Given the description of an element on the screen output the (x, y) to click on. 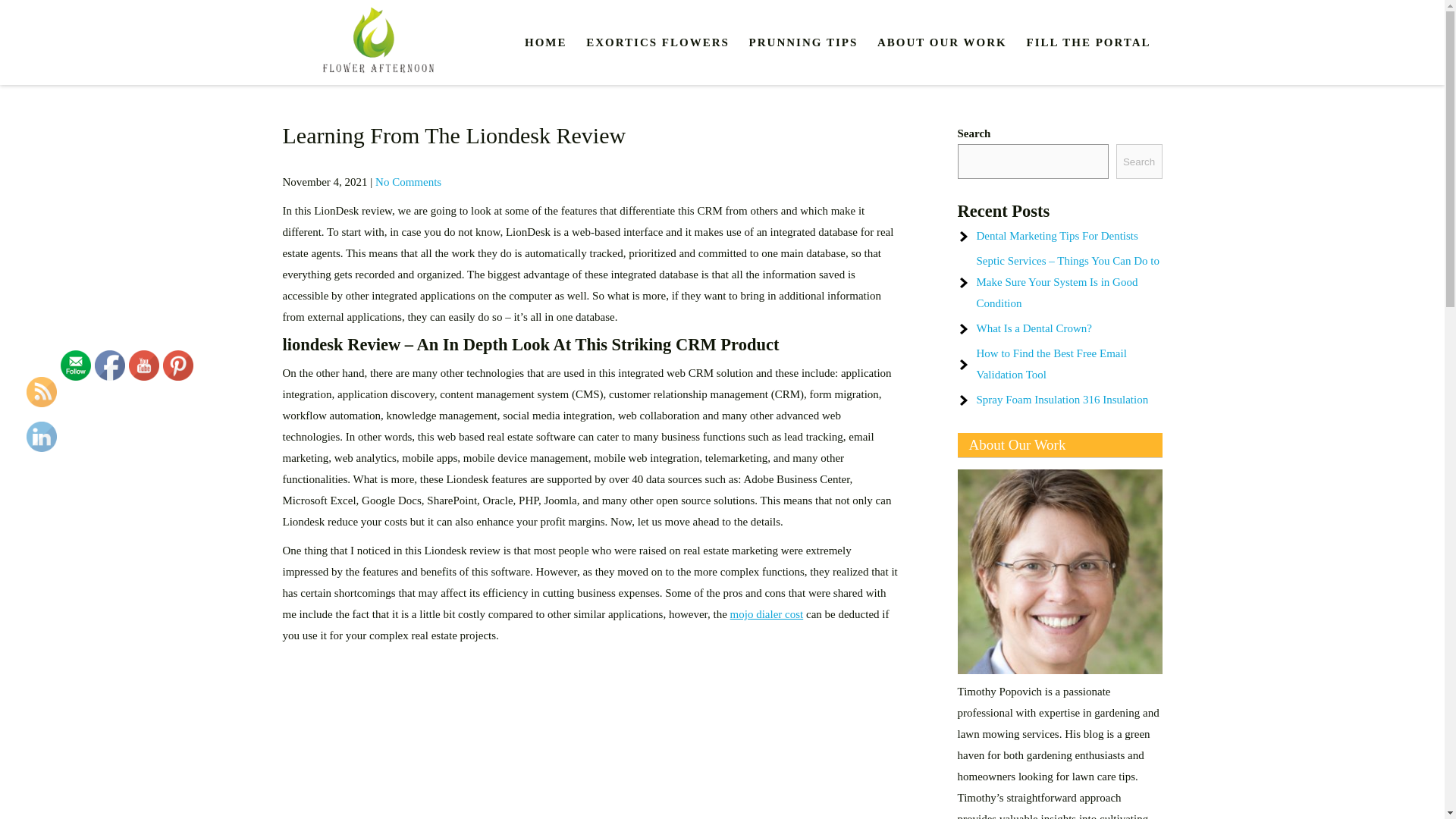
FLOWER AFTERNOON (416, 96)
No Comments (408, 182)
PRUNNING TIPS (803, 42)
Spray Foam Insulation 316 Insulation (1062, 399)
ABOUT OUR WORK (941, 42)
EXORTICS FLOWERS (657, 42)
FILL THE PORTAL (1088, 42)
Follow by Email (75, 365)
How to Find the Best Free Email Validation Tool (1051, 363)
Search (1138, 161)
